Given the description of an element on the screen output the (x, y) to click on. 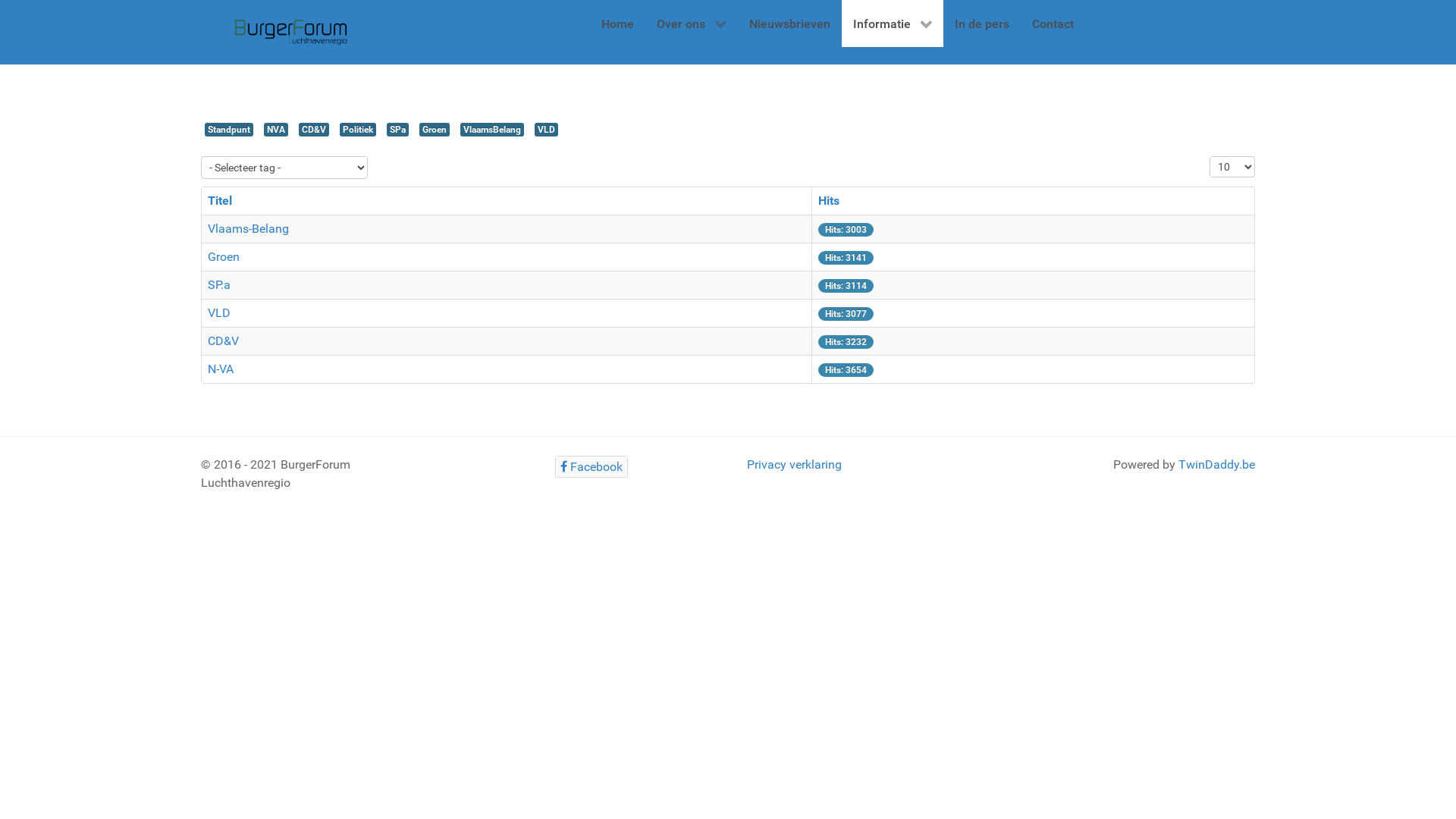
Nieuwsbrieven Element type: text (788, 23)
CD&V Element type: text (222, 340)
Groen Element type: text (434, 129)
CD&V Element type: text (313, 129)
Home Element type: text (617, 23)
In de pers Element type: text (981, 23)
Vlaams-Belang Element type: text (247, 228)
Titel Element type: text (219, 200)
Facebook Element type: text (591, 466)
Hits Element type: text (828, 200)
BurgerForum Luchthavenregio Element type: hover (291, 31)
NVA Element type: text (275, 129)
N-VA Element type: text (220, 368)
Standpunt Element type: text (228, 129)
VLD Element type: text (218, 312)
Over ons Element type: text (690, 23)
Politiek Element type: text (357, 129)
VlaamsBelang Element type: text (492, 129)
Privacy verklaring Element type: text (793, 464)
SPa Element type: text (397, 129)
Informatie Element type: text (892, 23)
TwinDaddy.be Element type: text (1216, 464)
SP.a Element type: text (218, 284)
VLD Element type: text (546, 129)
Groen Element type: text (223, 256)
Contact Element type: text (1052, 23)
